Given the description of an element on the screen output the (x, y) to click on. 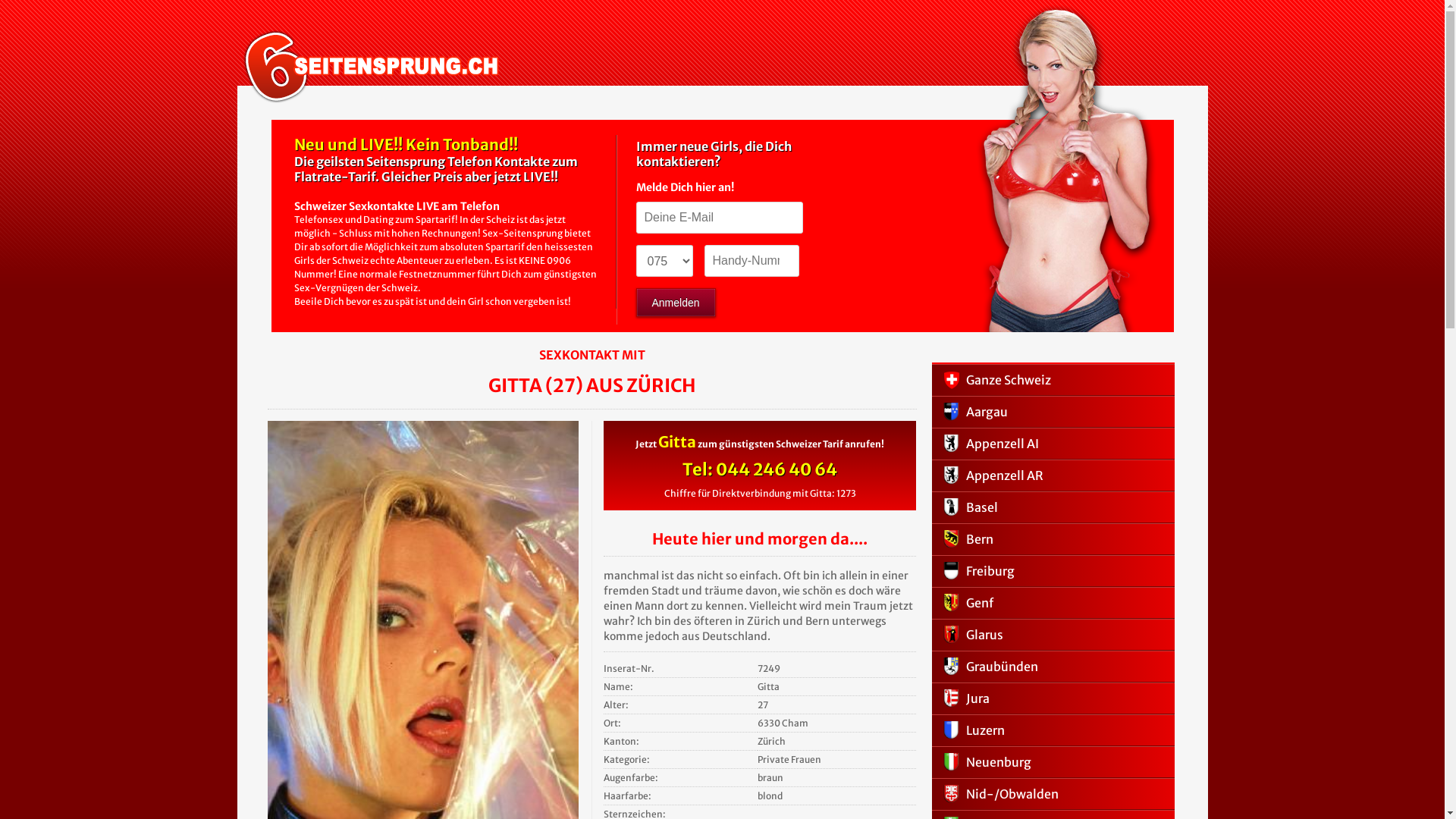
Basel Element type: text (1052, 507)
Appenzell AI Element type: text (1052, 443)
Bern Element type: text (1052, 539)
Jura Element type: text (1052, 698)
Nid-/Obwalden Element type: text (1052, 793)
Anmelden Element type: text (675, 302)
Neuenburg Element type: text (1052, 762)
Aargau Element type: text (1052, 411)
Genf Element type: text (1052, 602)
Freiburg Element type: text (1052, 570)
Appenzell AR Element type: text (1052, 475)
Ganze Schweiz Element type: text (1052, 379)
Luzern Element type: text (1052, 730)
6seitensprung.ch Element type: text (370, 66)
Glarus Element type: text (1052, 634)
